Given the description of an element on the screen output the (x, y) to click on. 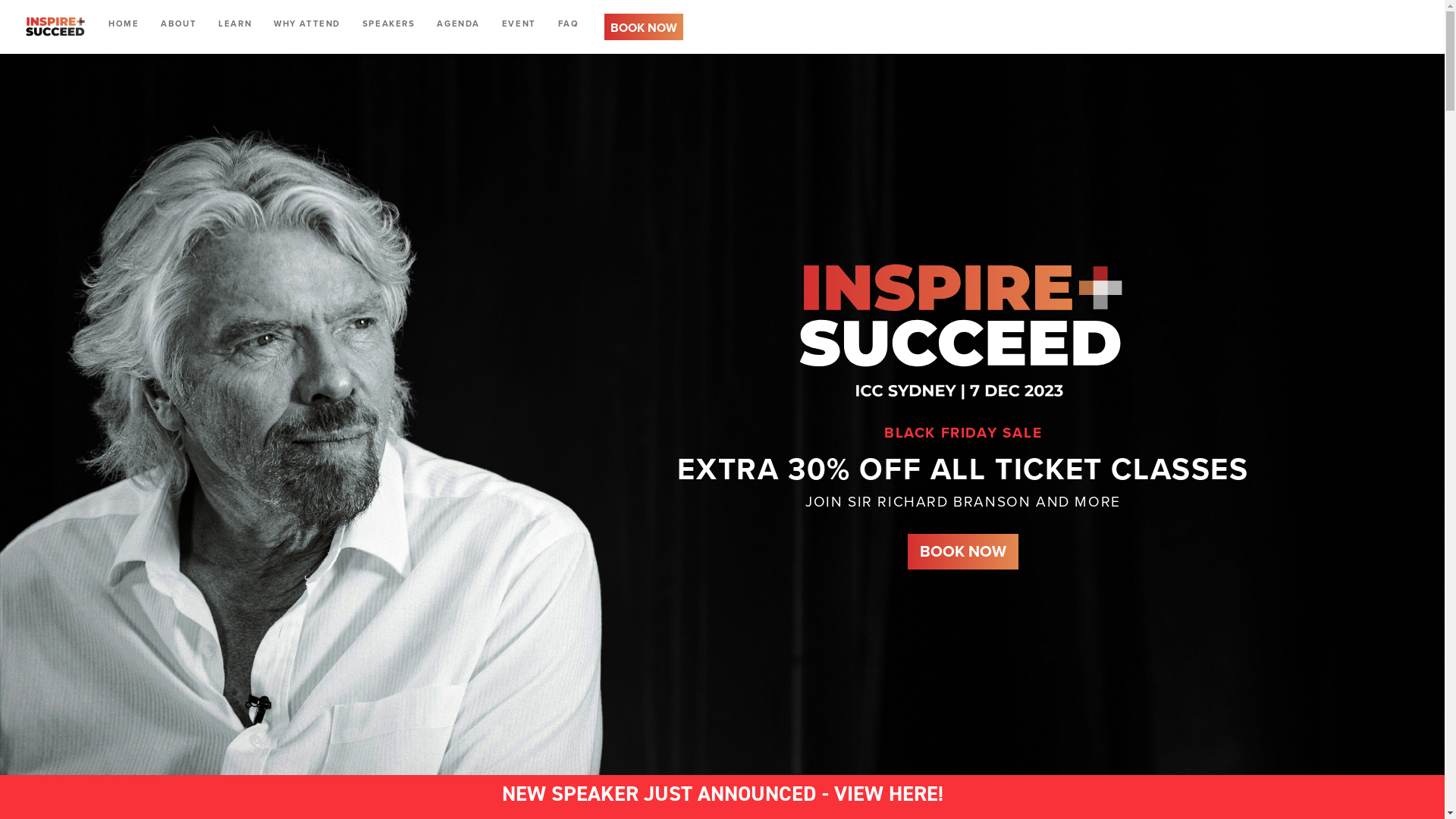
ABOUT Element type: text (178, 22)
FAQ Element type: text (568, 22)
BOOK NOW Element type: text (962, 551)
BOOK NOW Element type: text (643, 26)
AGENDA Element type: text (458, 22)
WHY ATTEND Element type: text (306, 22)
BOOK NOW Element type: text (962, 551)
BOOK NOW Element type: text (643, 26)
SPEAKERS Element type: text (388, 22)
EVENT Element type: text (518, 22)
HOME Element type: text (123, 22)
LEARN Element type: text (234, 22)
